Given the description of an element on the screen output the (x, y) to click on. 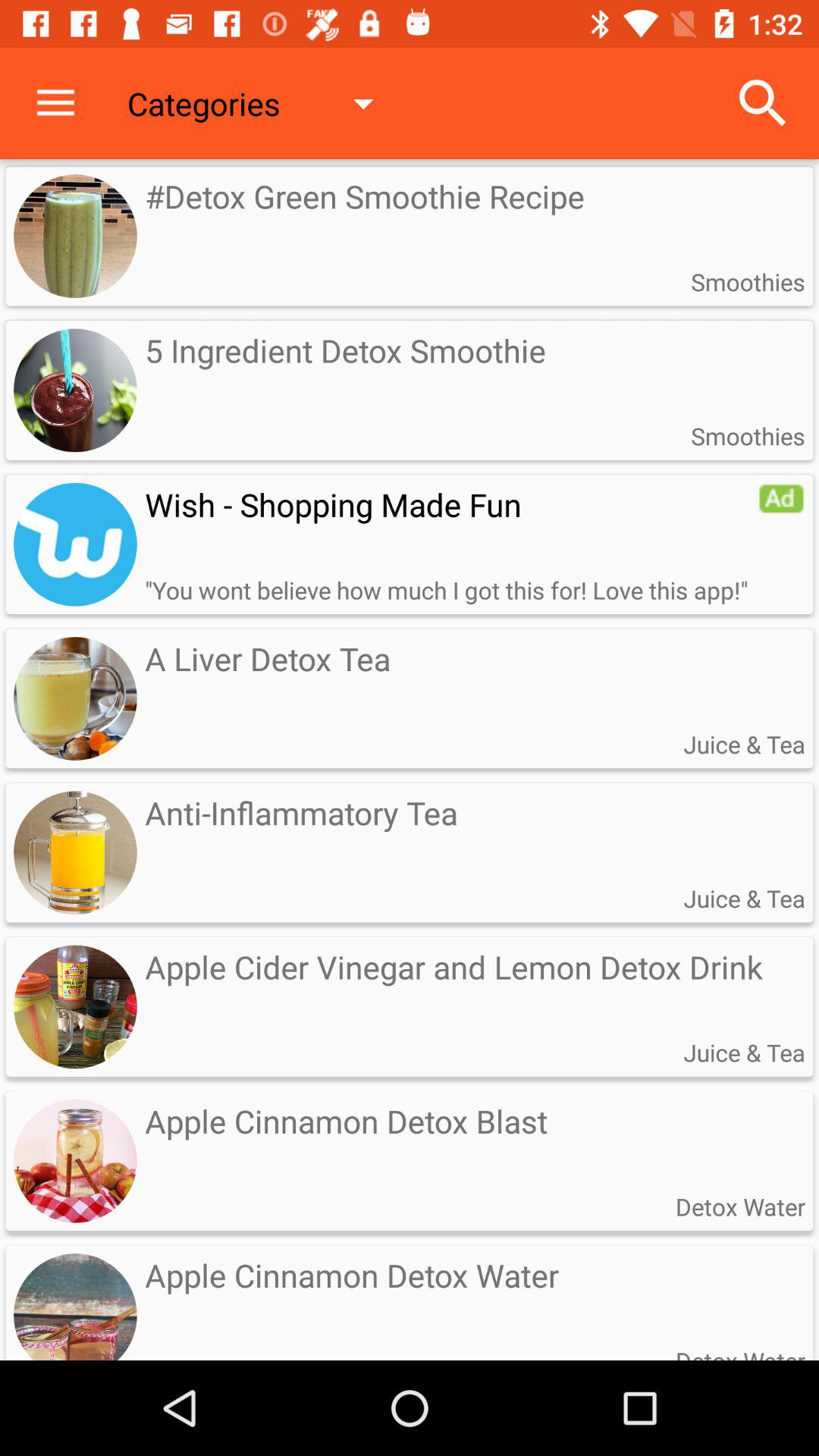
press the item above the smoothies icon (763, 103)
